Given the description of an element on the screen output the (x, y) to click on. 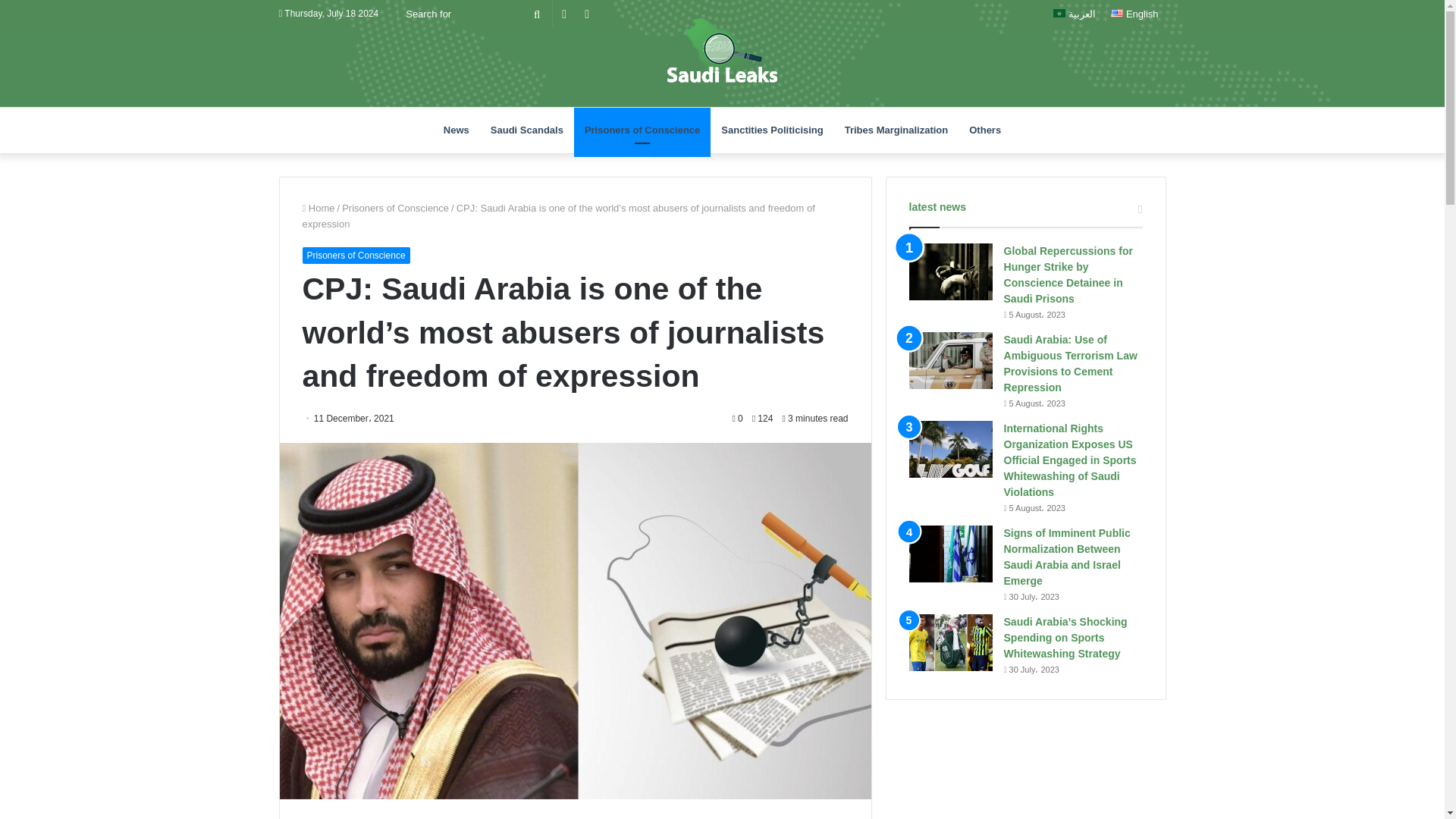
Search for (474, 13)
Saudi Scandals (526, 130)
Others (984, 130)
News (456, 130)
English (1134, 13)
Sanctities Politicising (771, 130)
Home (317, 207)
Prisoners of Conscience (641, 130)
Search for (536, 13)
Prisoners of Conscience (355, 255)
Prisoners of Conscience (395, 207)
Tribes Marginalization (896, 130)
